Given the description of an element on the screen output the (x, y) to click on. 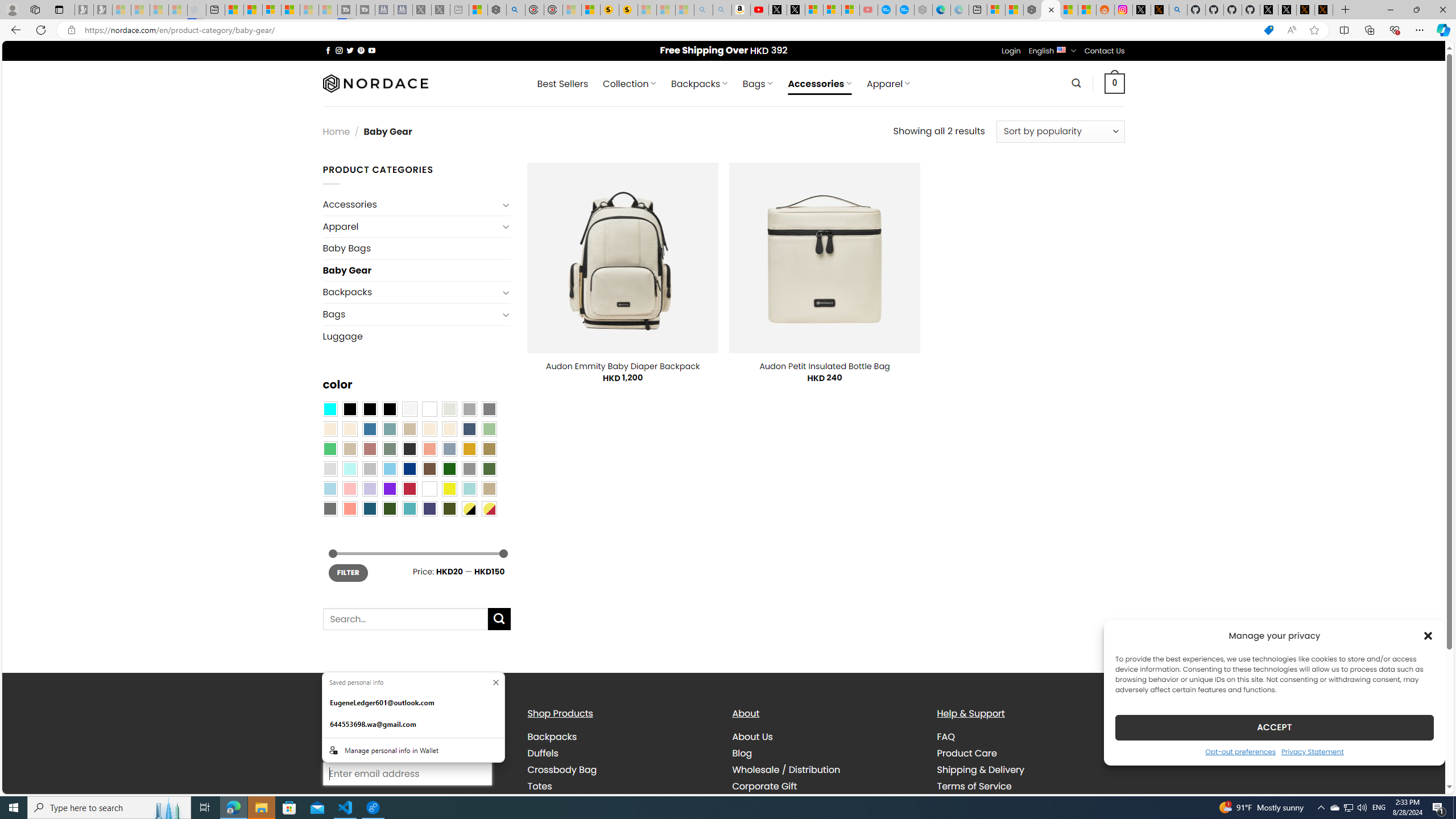
Privacy Statement (1312, 750)
Dusty Blue (449, 448)
White (429, 488)
Mint (349, 468)
Green (488, 468)
FILTER (347, 572)
Backpacks (551, 736)
FAQ (945, 736)
Pearly White (408, 408)
Wholesale / Distribution (826, 769)
